Given the description of an element on the screen output the (x, y) to click on. 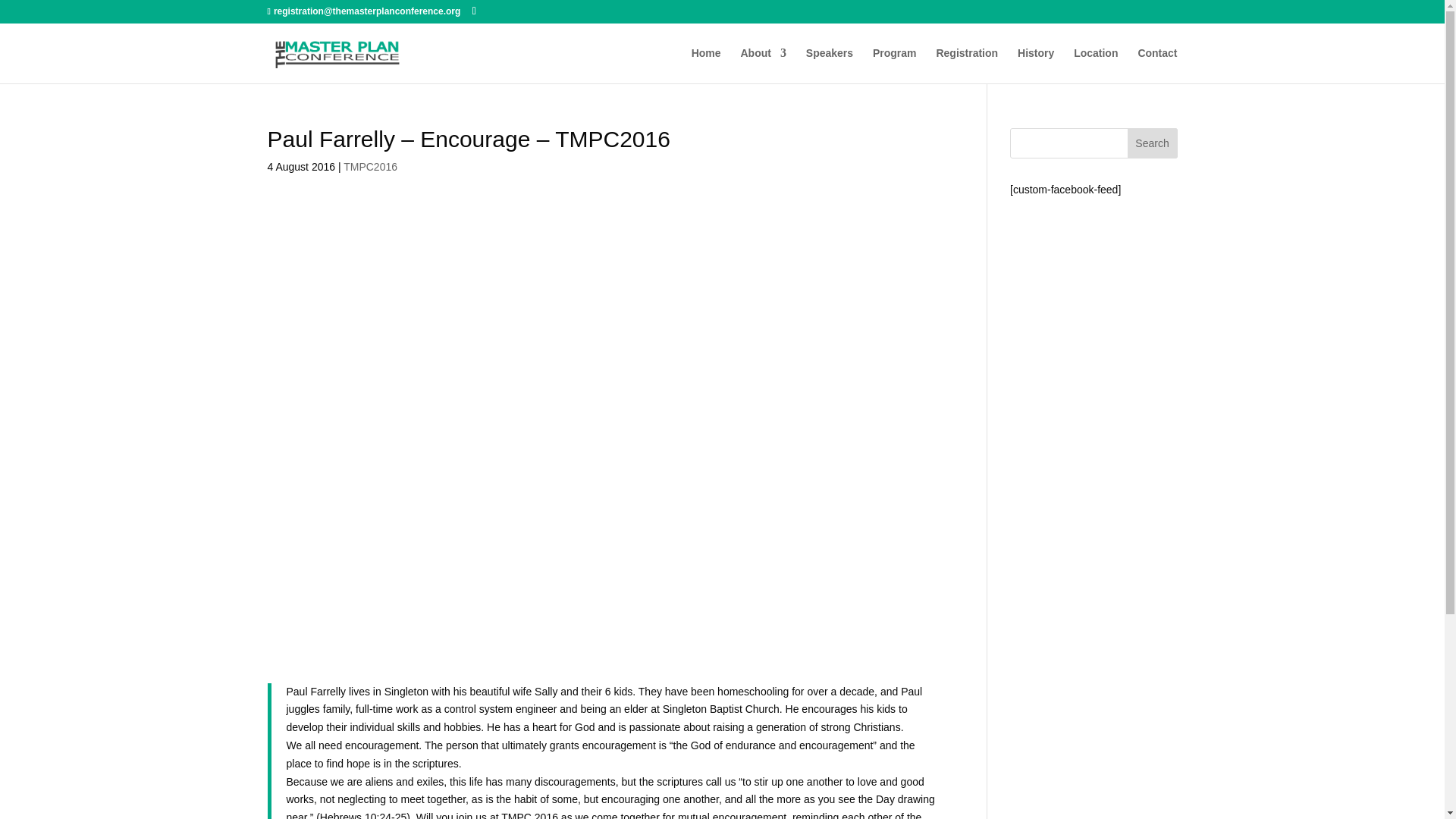
Program (894, 65)
Search (1151, 142)
TMPC2016 (370, 166)
Contact (1156, 65)
Location (1096, 65)
Search (1151, 142)
Registration (966, 65)
About (762, 65)
History (1035, 65)
Speakers (829, 65)
